Given the description of an element on the screen output the (x, y) to click on. 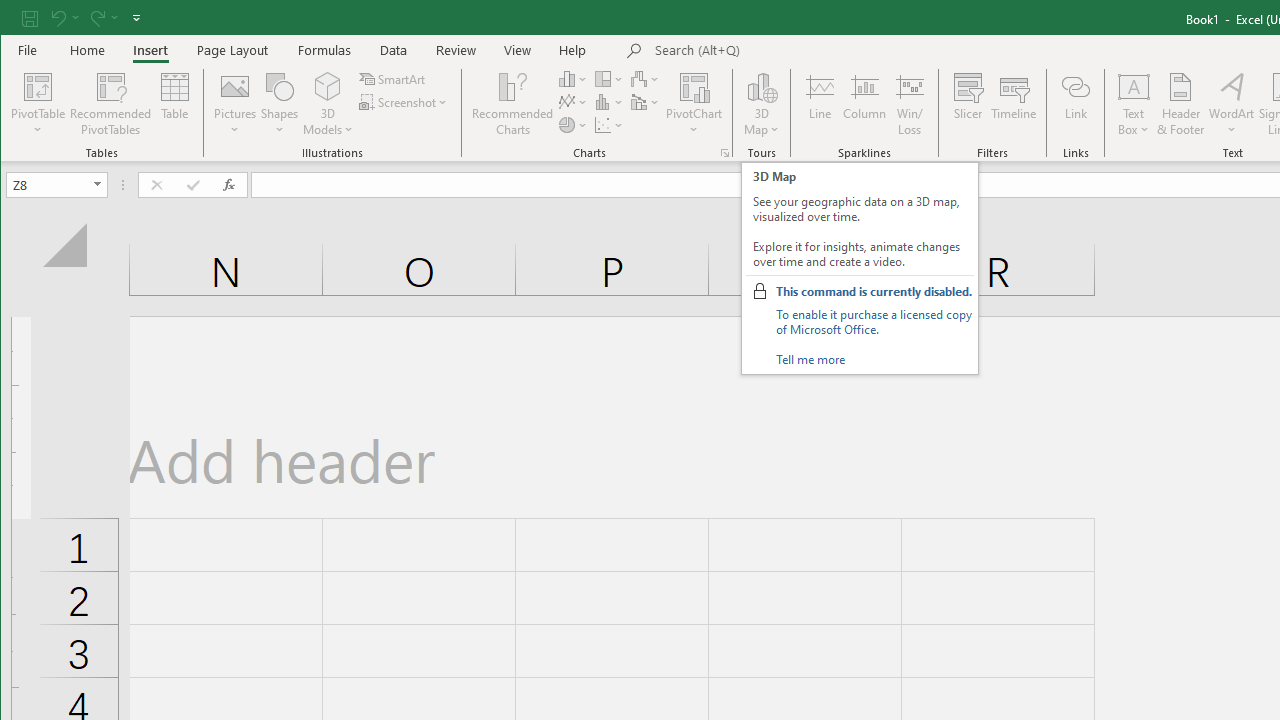
Win/Loss (909, 104)
Class: NetUIImage (760, 290)
SmartArt... (393, 78)
Pictures (235, 104)
3D Models (327, 86)
Insert Statistic Chart (609, 101)
Insert Hierarchy Chart (609, 78)
Shapes (279, 104)
PivotChart (694, 86)
